Given the description of an element on the screen output the (x, y) to click on. 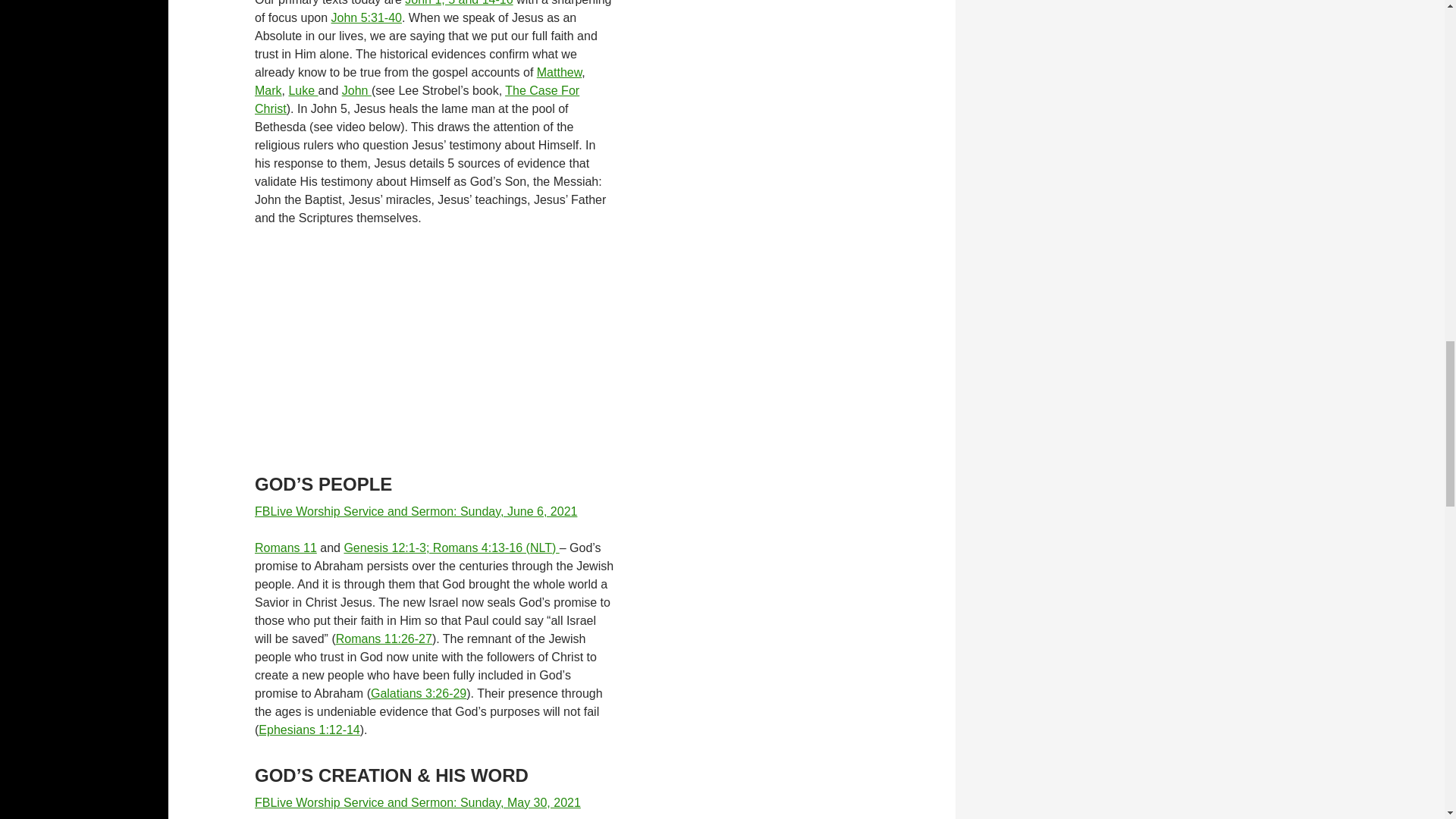
The Chosen - Jesus heals Paralytic at Pool of Bethesda (434, 346)
